Given the description of an element on the screen output the (x, y) to click on. 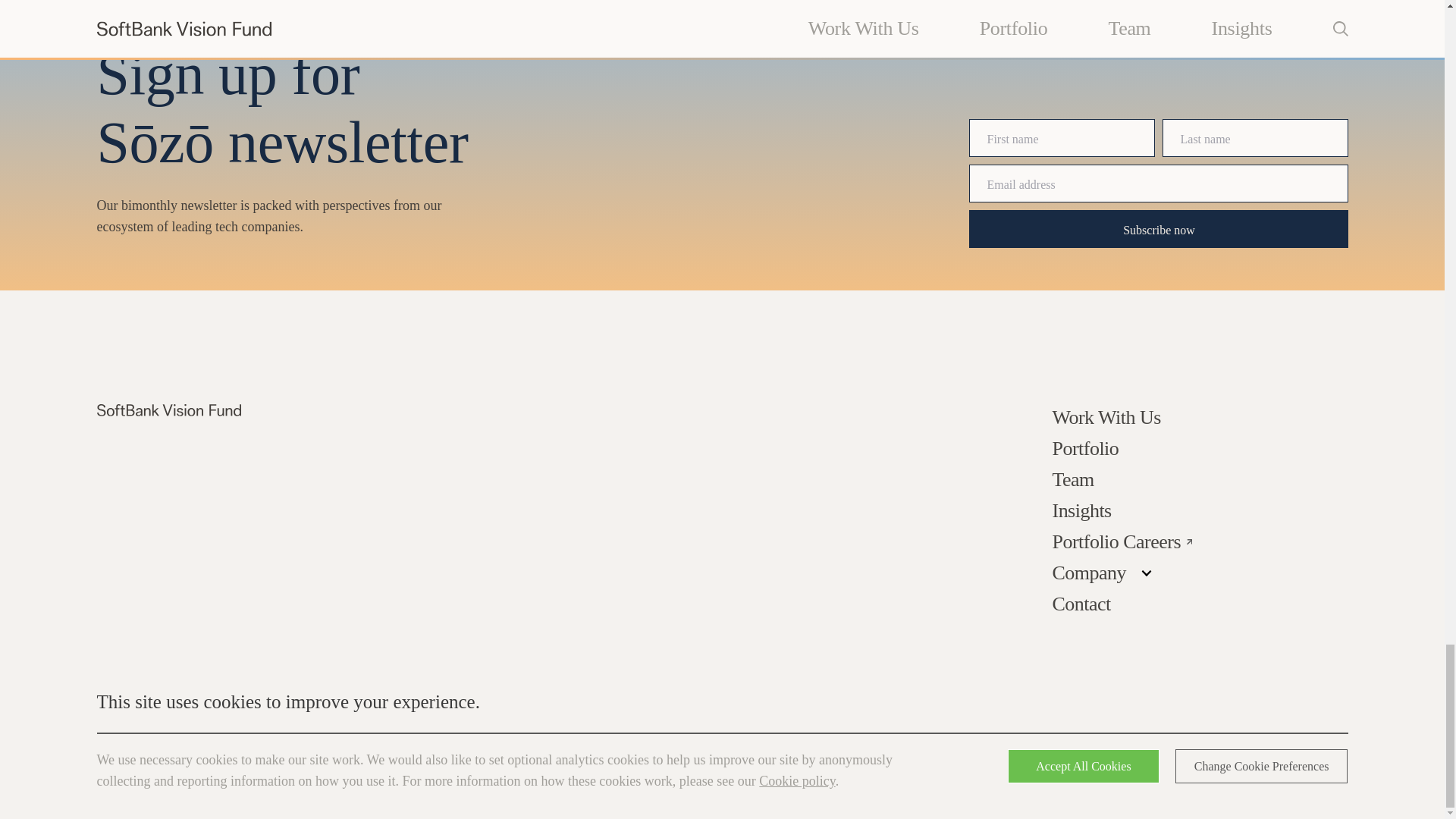
Team (1073, 479)
Terms (1069, 723)
SoftBank Vision Fund (169, 410)
Subscribe now (1158, 228)
Portfolio (1085, 448)
Portfolio Careers (1122, 541)
Work With Us (1106, 417)
Regulatory (1190, 723)
Contact (1081, 603)
Insights (1082, 510)
